Given the description of an element on the screen output the (x, y) to click on. 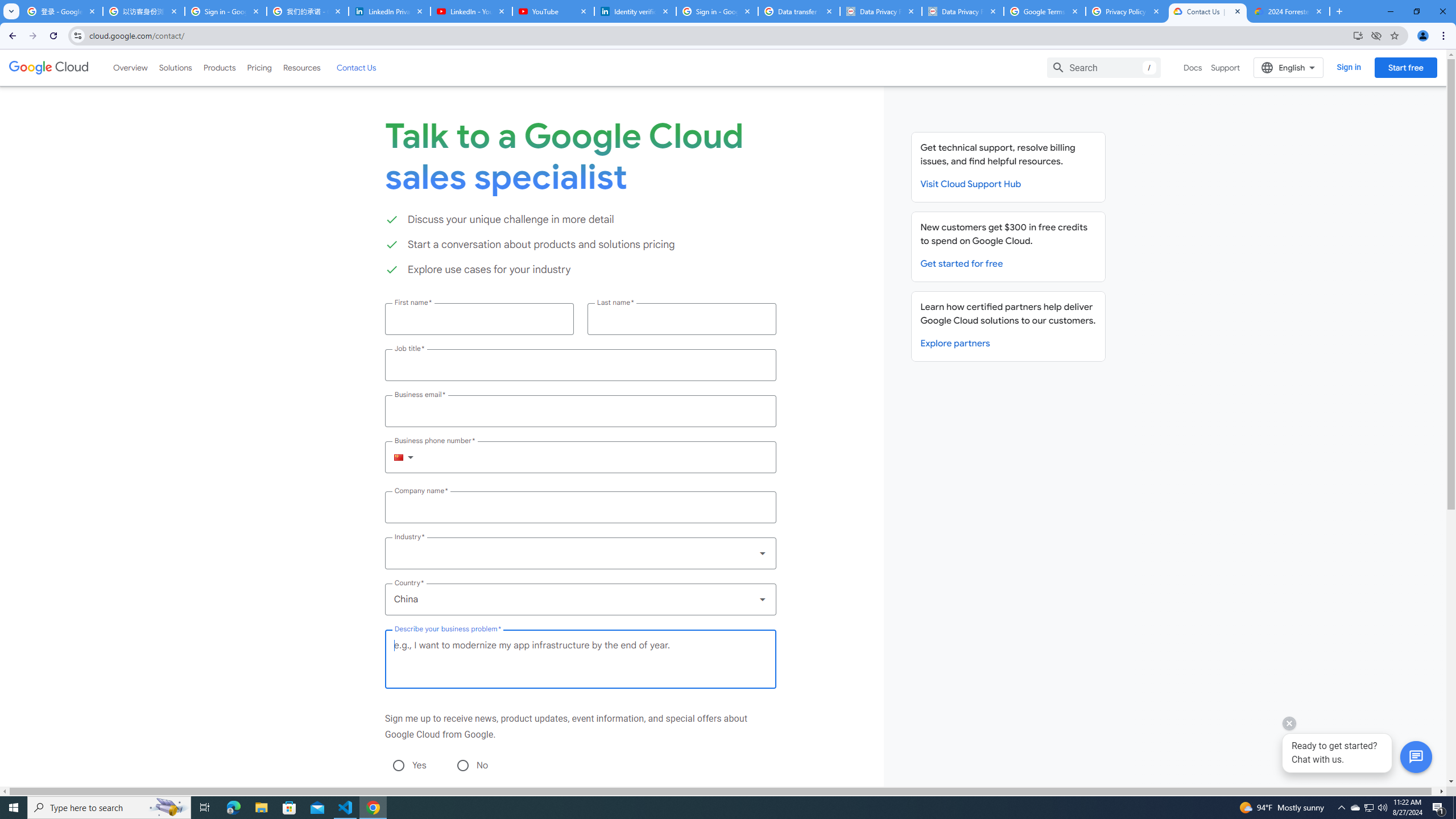
Yes (398, 764)
Business email * (580, 411)
Button to activate chat (1416, 757)
Company name * (580, 507)
YouTube (552, 11)
Business phone number * (594, 457)
Docs (1192, 67)
